Given the description of an element on the screen output the (x, y) to click on. 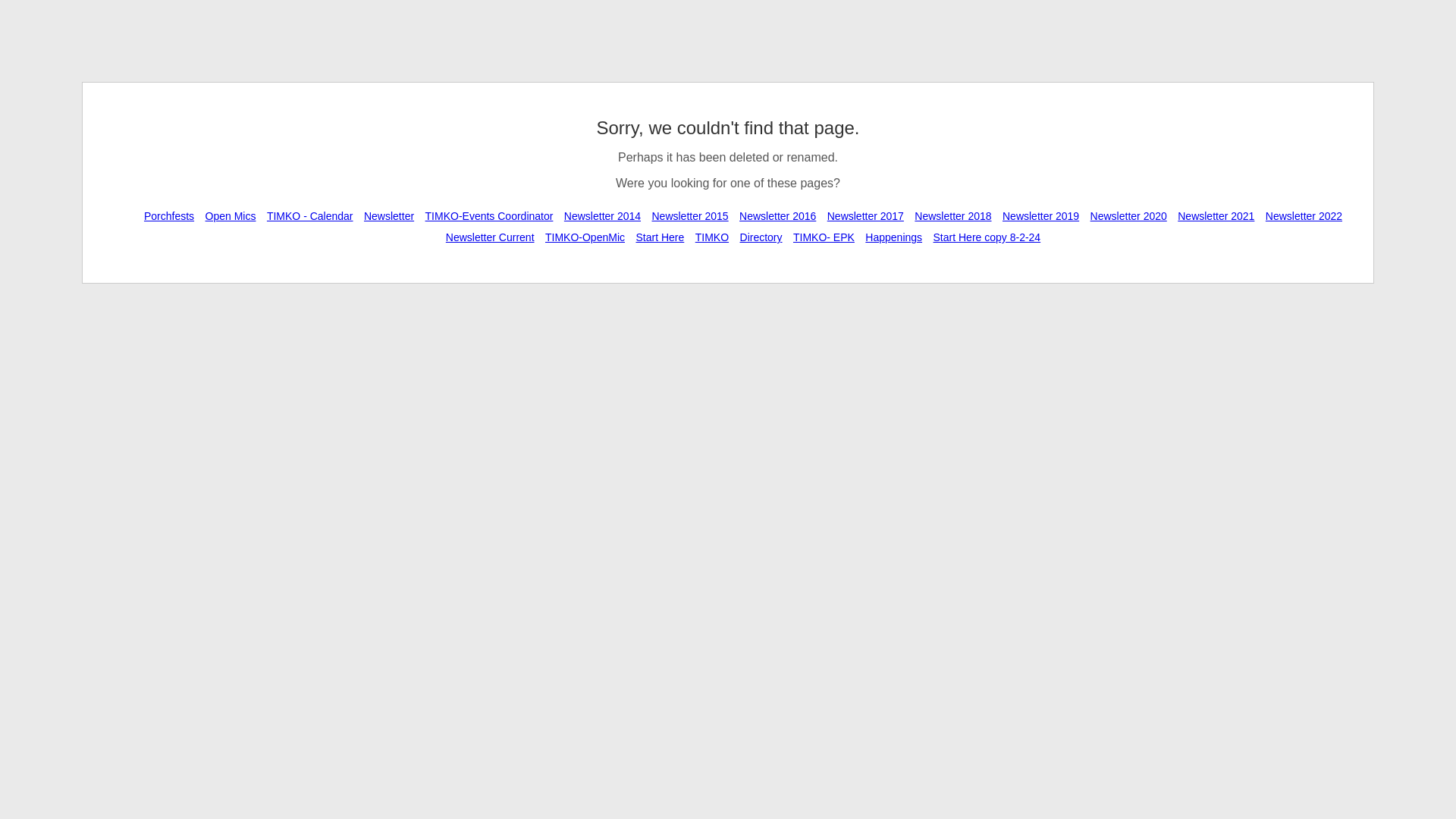
Newsletter (388, 215)
TIMKO-Events Coordinator (489, 215)
Newsletter 2018 (952, 215)
TIMKO - Calendar (309, 215)
Newsletter 2015 (689, 215)
Newsletter 2020 (1128, 215)
Porchfests (168, 215)
TIMKO- EPK (824, 236)
Newsletter 2022 (1303, 215)
Directory (761, 236)
Newsletter 2014 (602, 215)
Open Mics (231, 215)
Newsletter Current (490, 236)
Start Here (659, 236)
Newsletter 2016 (777, 215)
